Given the description of an element on the screen output the (x, y) to click on. 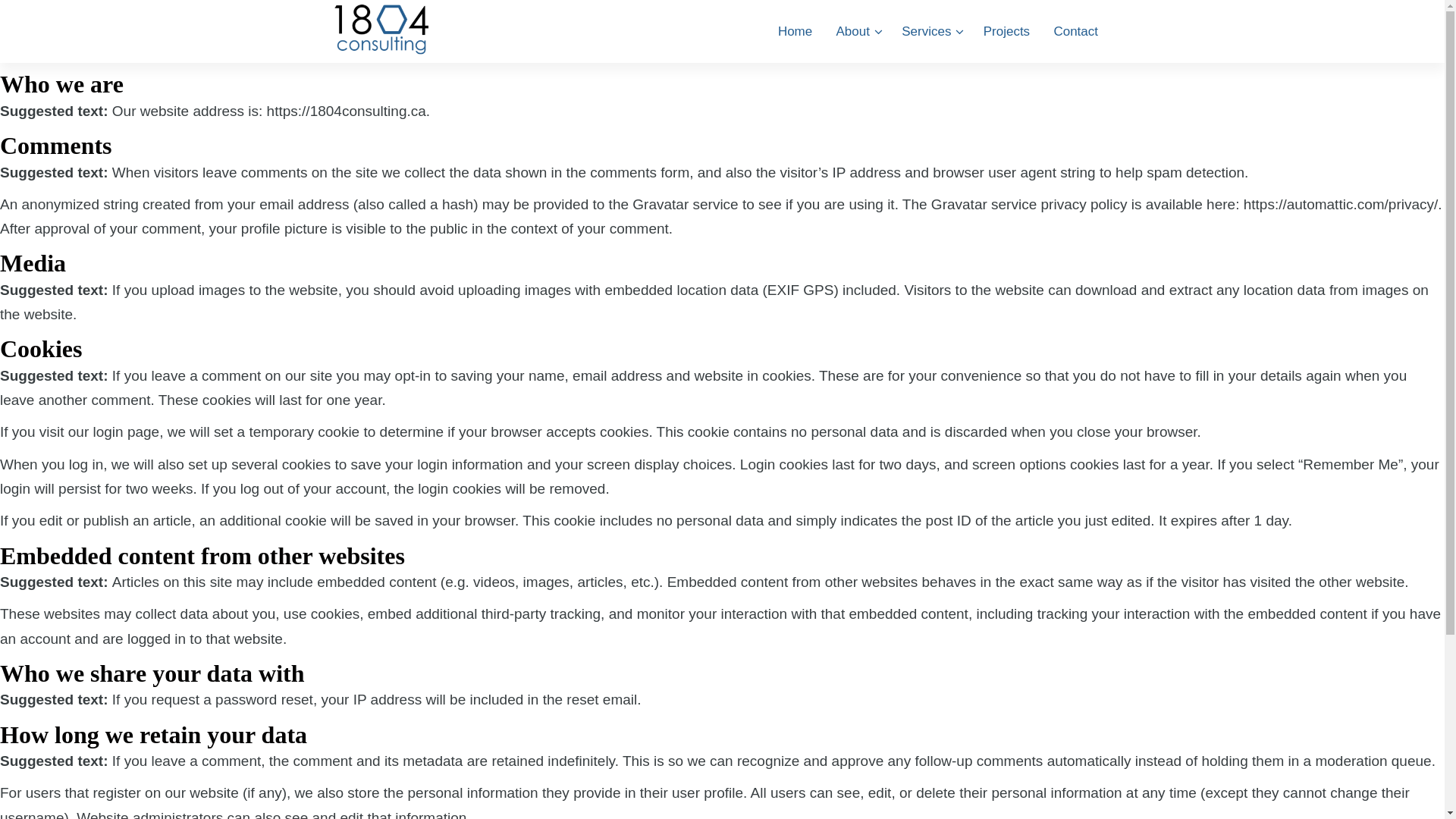
Services Element type: text (930, 31)
About Element type: text (856, 31)
Contact Element type: text (1075, 31)
Projects Element type: text (1006, 31)
Home Element type: text (794, 31)
